Given the description of an element on the screen output the (x, y) to click on. 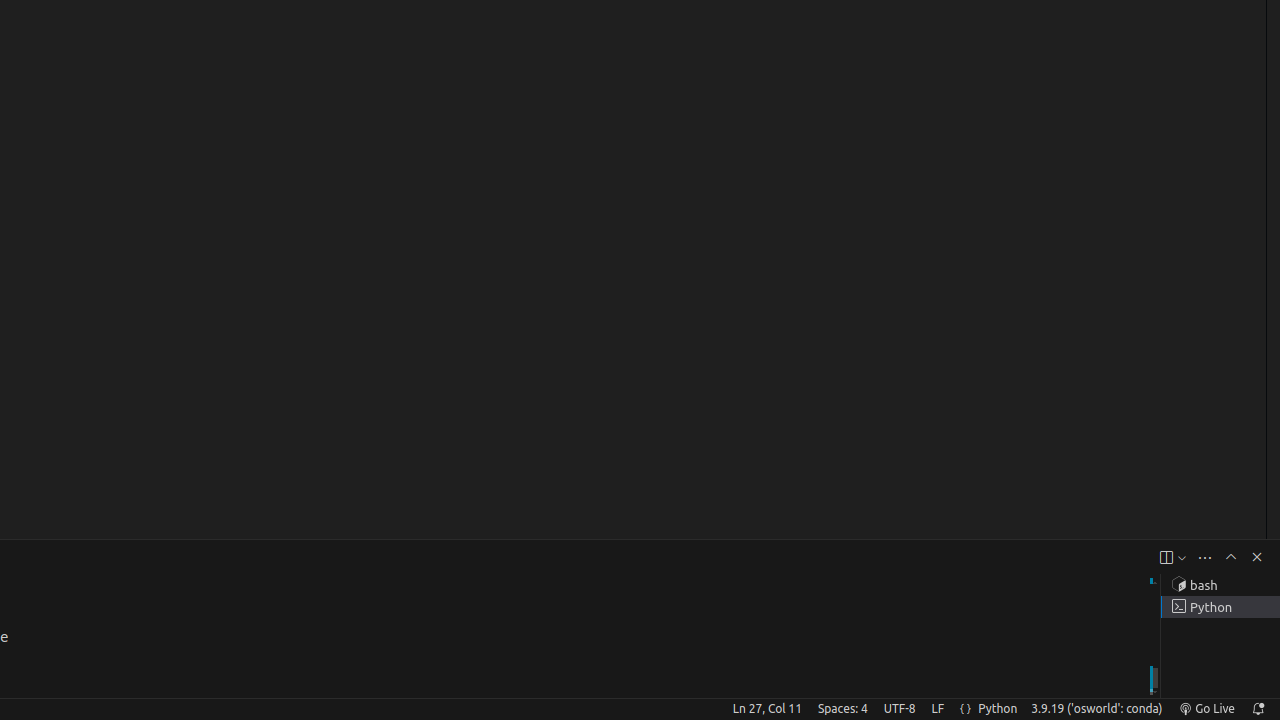
Hide Panel Element type: push-button (1257, 557)
Maximize Panel Size Element type: check-box (1231, 557)
Editor Language Status: Auto Import Completions: false Element type: push-button (965, 709)
Terminal 1 bash Element type: list-item (1220, 585)
broadcast Go Live, Click to run live server Element type: push-button (1206, 709)
